Given the description of an element on the screen output the (x, y) to click on. 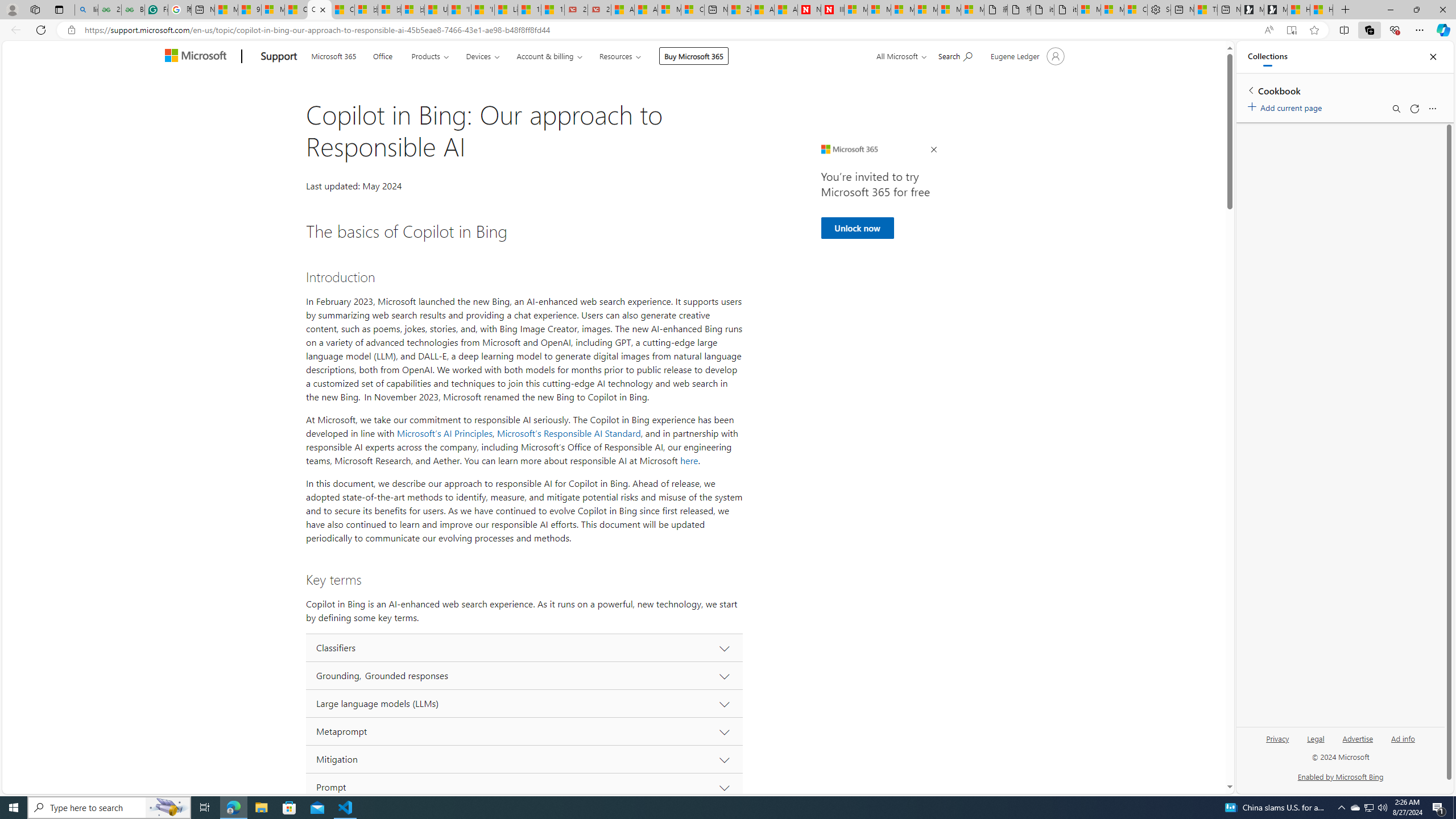
Account manager for Eugene Ledger (1025, 55)
Unlock now (857, 228)
Close Ad (933, 149)
linux basic - Search (86, 9)
Search for help (954, 54)
